Given the description of an element on the screen output the (x, y) to click on. 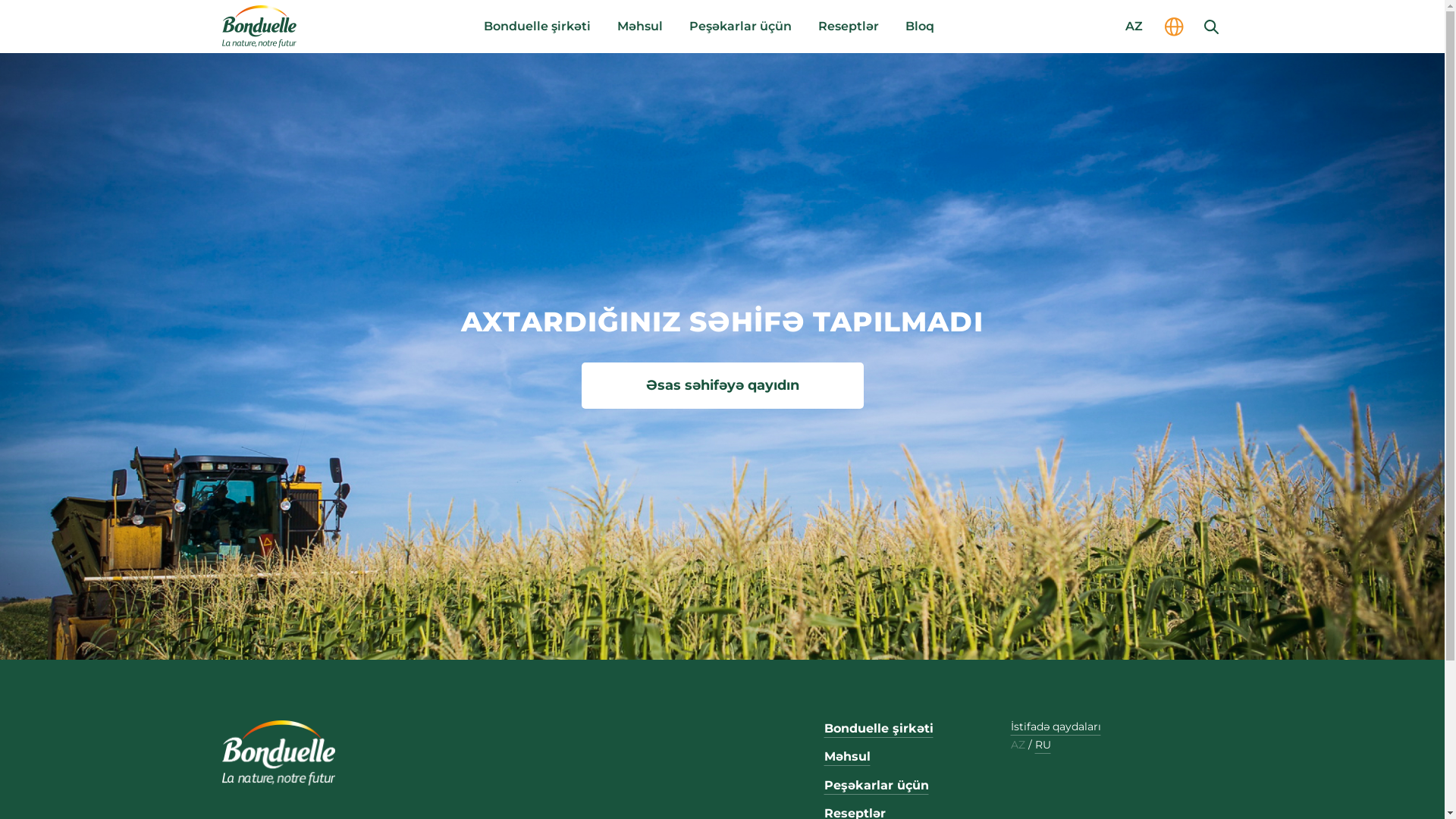
RU Element type: text (1042, 744)
Bonduelle Element type: hover (278, 752)
Bloq Element type: text (919, 26)
